Given the description of an element on the screen output the (x, y) to click on. 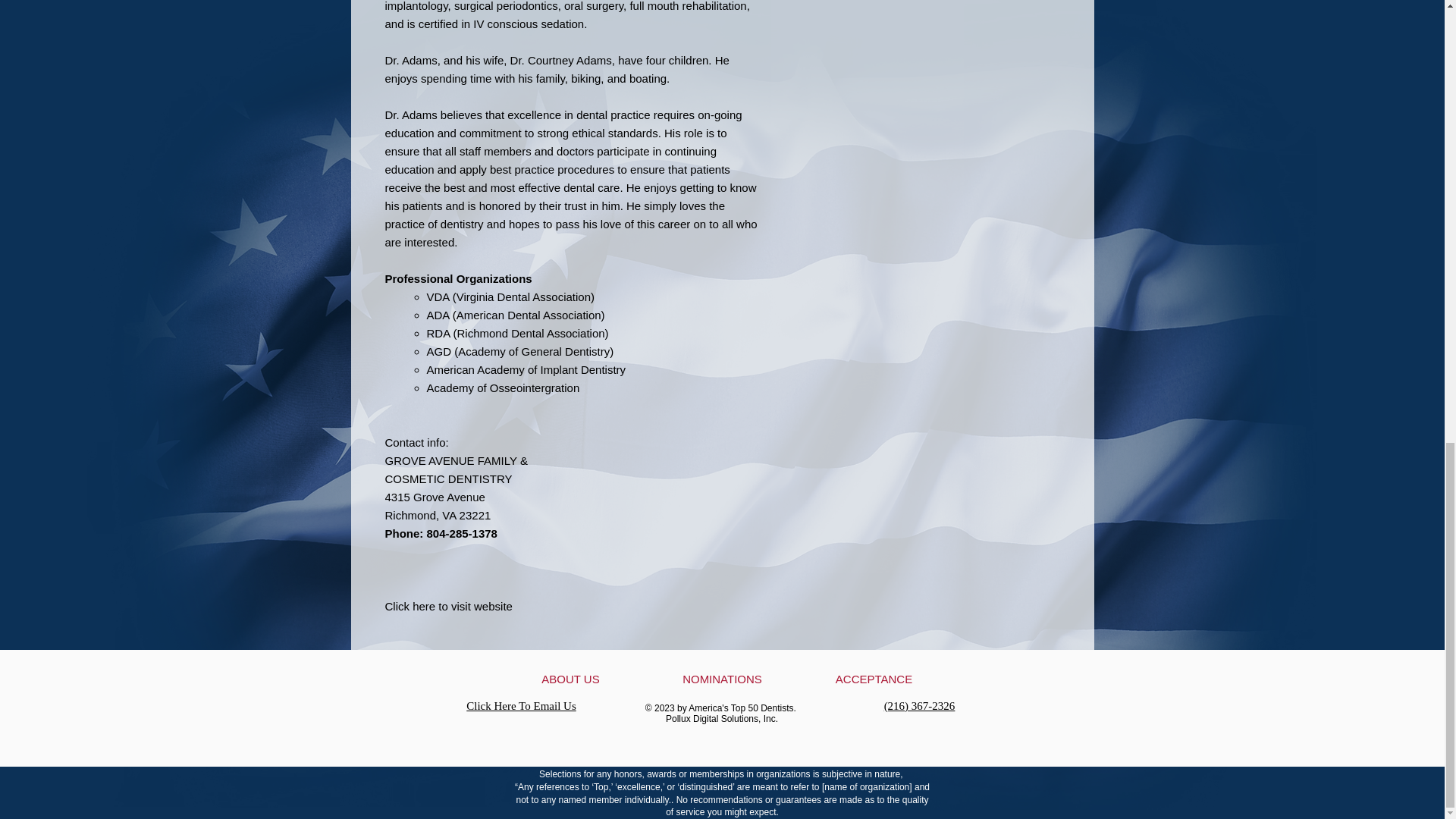
ABOUT US (570, 678)
NOMINATIONS (721, 678)
Click Here To Email Us (520, 705)
ACCEPTANCE (873, 678)
